Given the description of an element on the screen output the (x, y) to click on. 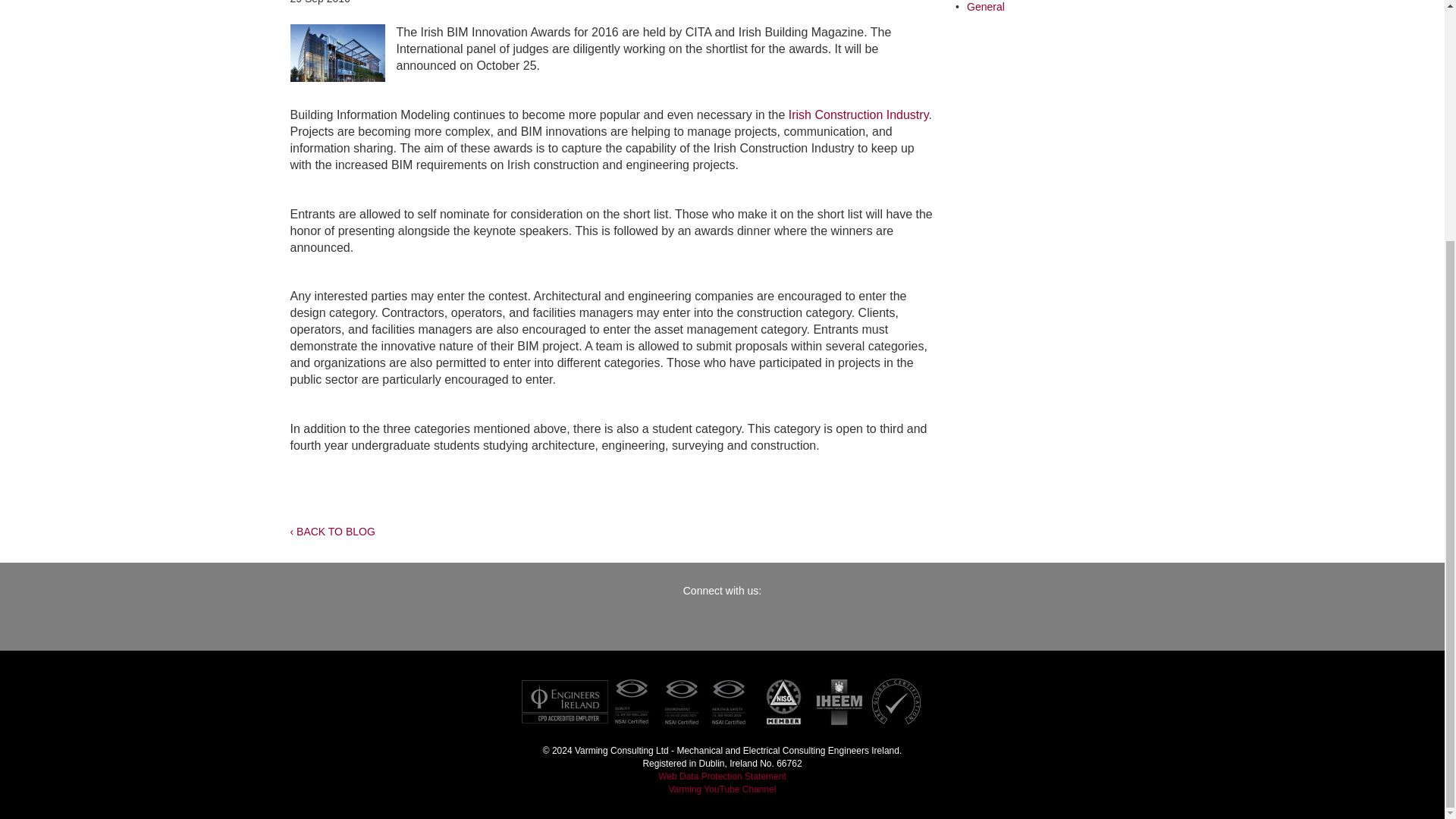
General (985, 6)
Varming YouTube Channel (722, 788)
Web Data Protection Statement (722, 776)
Certifications (721, 701)
Irish Construction Industry (858, 114)
